Given the description of an element on the screen output the (x, y) to click on. 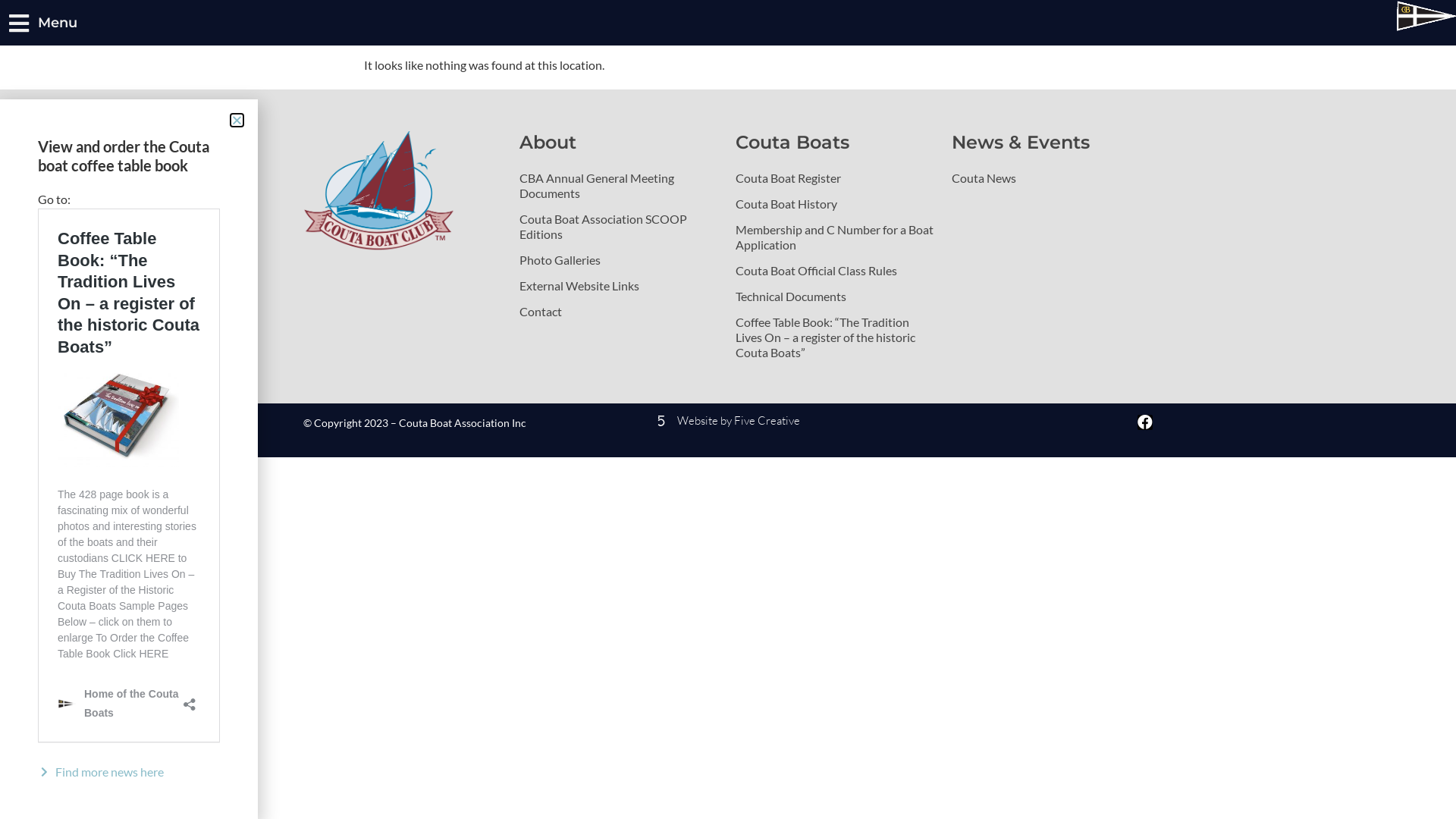
Couta Boat Official Class Rules Element type: text (835, 270)
Membership and C Number for a Boat Application Element type: text (835, 236)
Couta Boat Association SCOOP Editions Element type: text (619, 226)
Couta Boat History Element type: text (835, 203)
Website by Five Creative Element type: text (727, 420)
Couta Boat Register Element type: text (835, 178)
Photo Galleries Element type: text (619, 260)
CBA Annual General Meeting Documents Element type: text (619, 185)
Couta News Element type: text (1051, 178)
Contact Element type: text (619, 311)
Find more news here Element type: text (128, 771)
External Website Links Element type: text (619, 285)
Technical Documents Element type: text (835, 296)
